Given the description of an element on the screen output the (x, y) to click on. 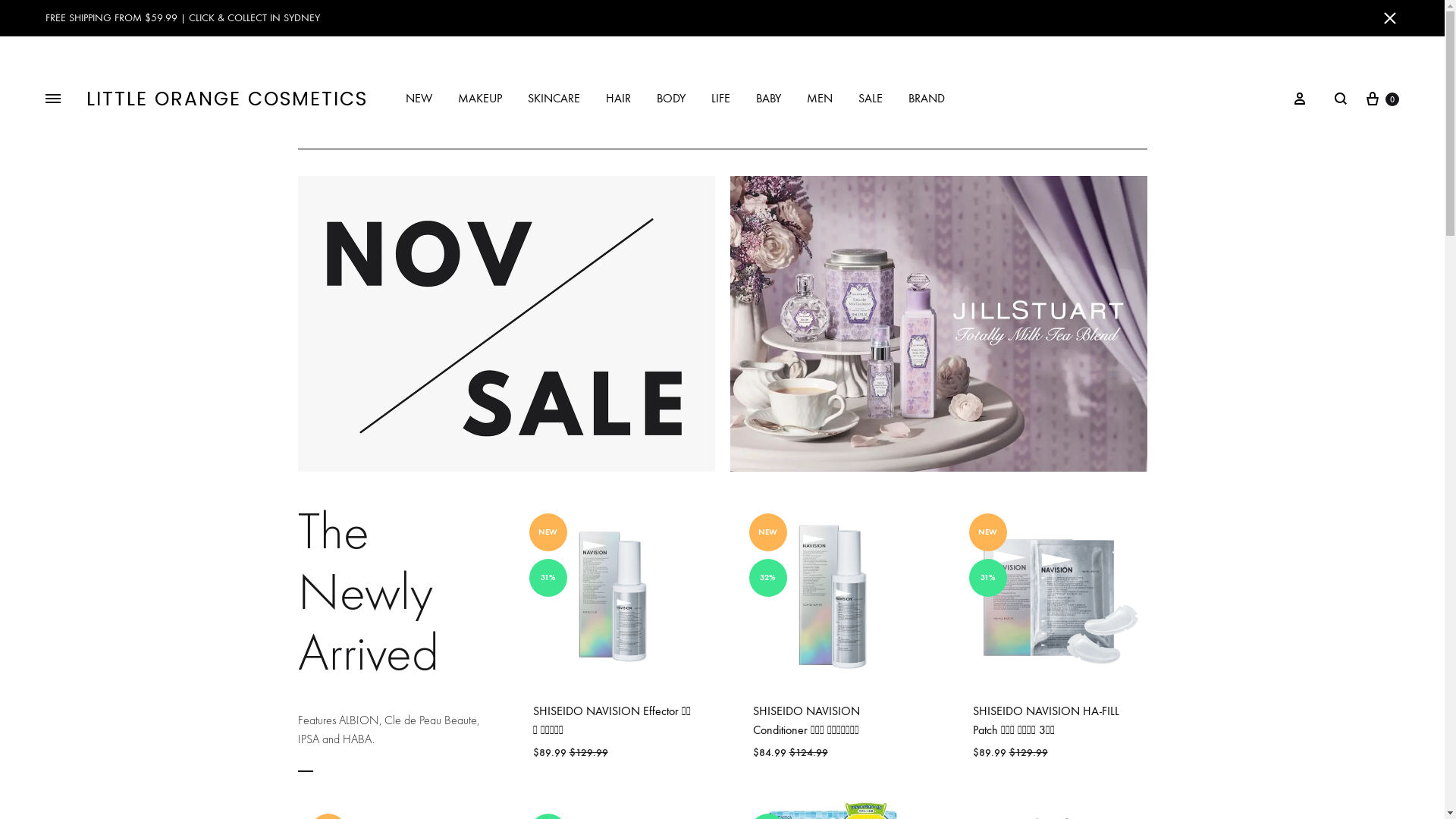
SKINCARE Element type: text (553, 98)
HAIR Element type: text (617, 98)
BRAND Element type: text (926, 98)
0 Element type: text (1381, 98)
NEW Element type: text (418, 98)
LIFE Element type: text (720, 98)
BABY Element type: text (768, 98)
MEN Element type: text (819, 98)
LITTLE ORANGE COSMETICS Element type: text (226, 98)
BODY Element type: text (670, 98)
SALE Element type: text (870, 98)
MAKEUP Element type: text (480, 98)
